Given the description of an element on the screen output the (x, y) to click on. 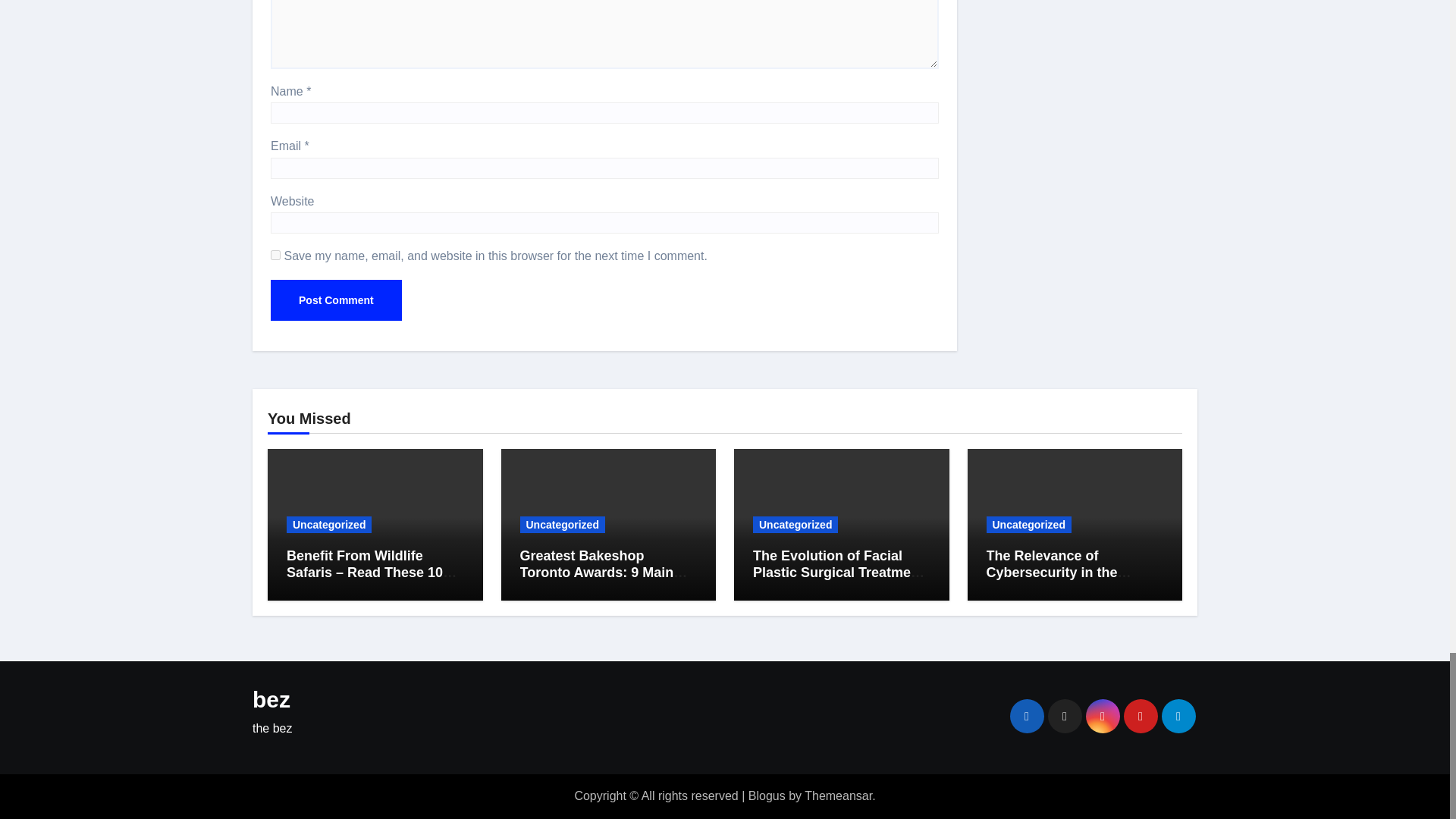
Post Comment (335, 300)
yes (275, 255)
